Given the description of an element on the screen output the (x, y) to click on. 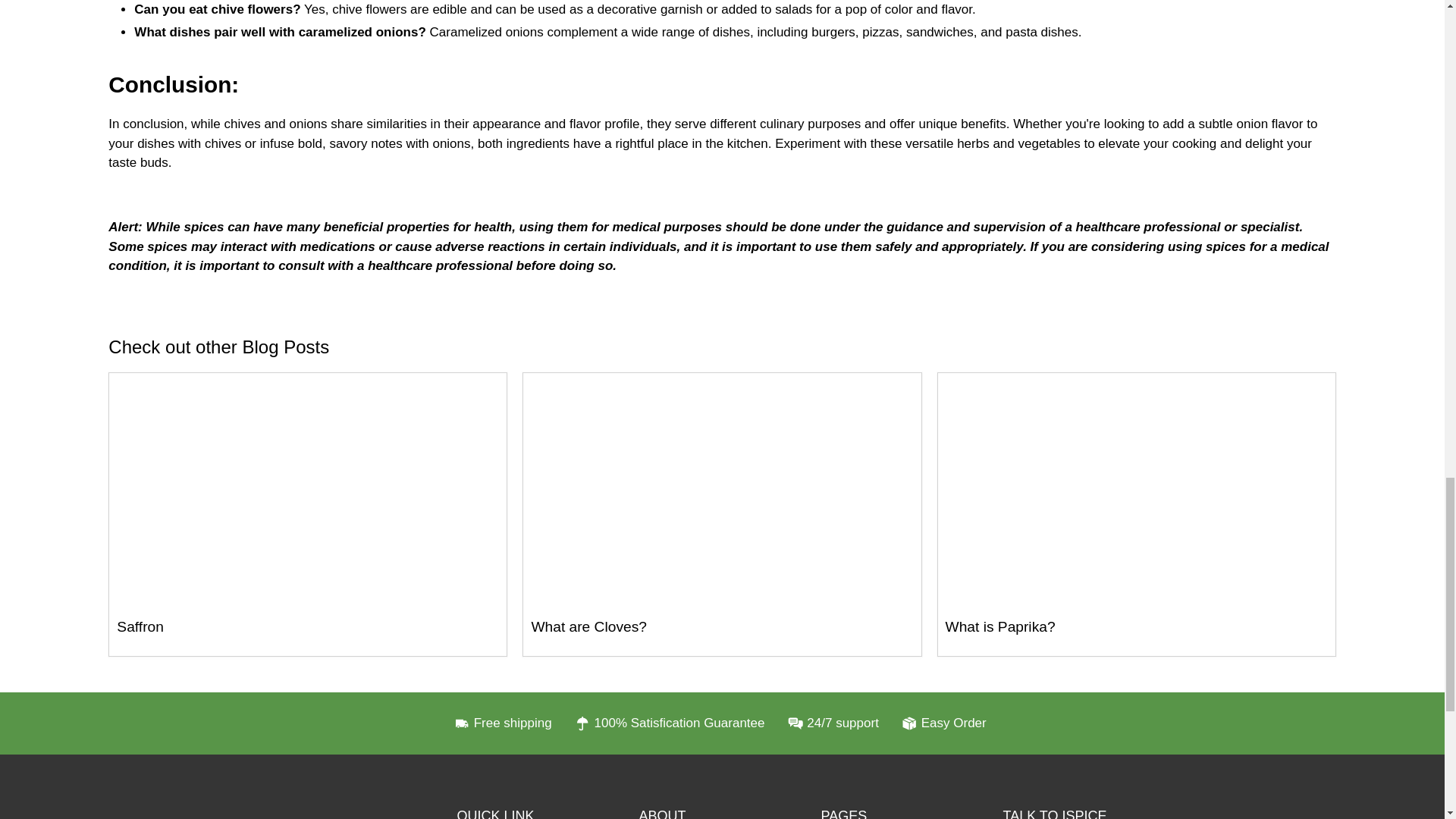
iSpice You (341, 812)
What is Paprika? (1136, 491)
What are Cloves? (721, 491)
What are Cloves? (588, 626)
What is Paprika? (999, 626)
Saffron (307, 491)
Saffron (139, 626)
